Given the description of an element on the screen output the (x, y) to click on. 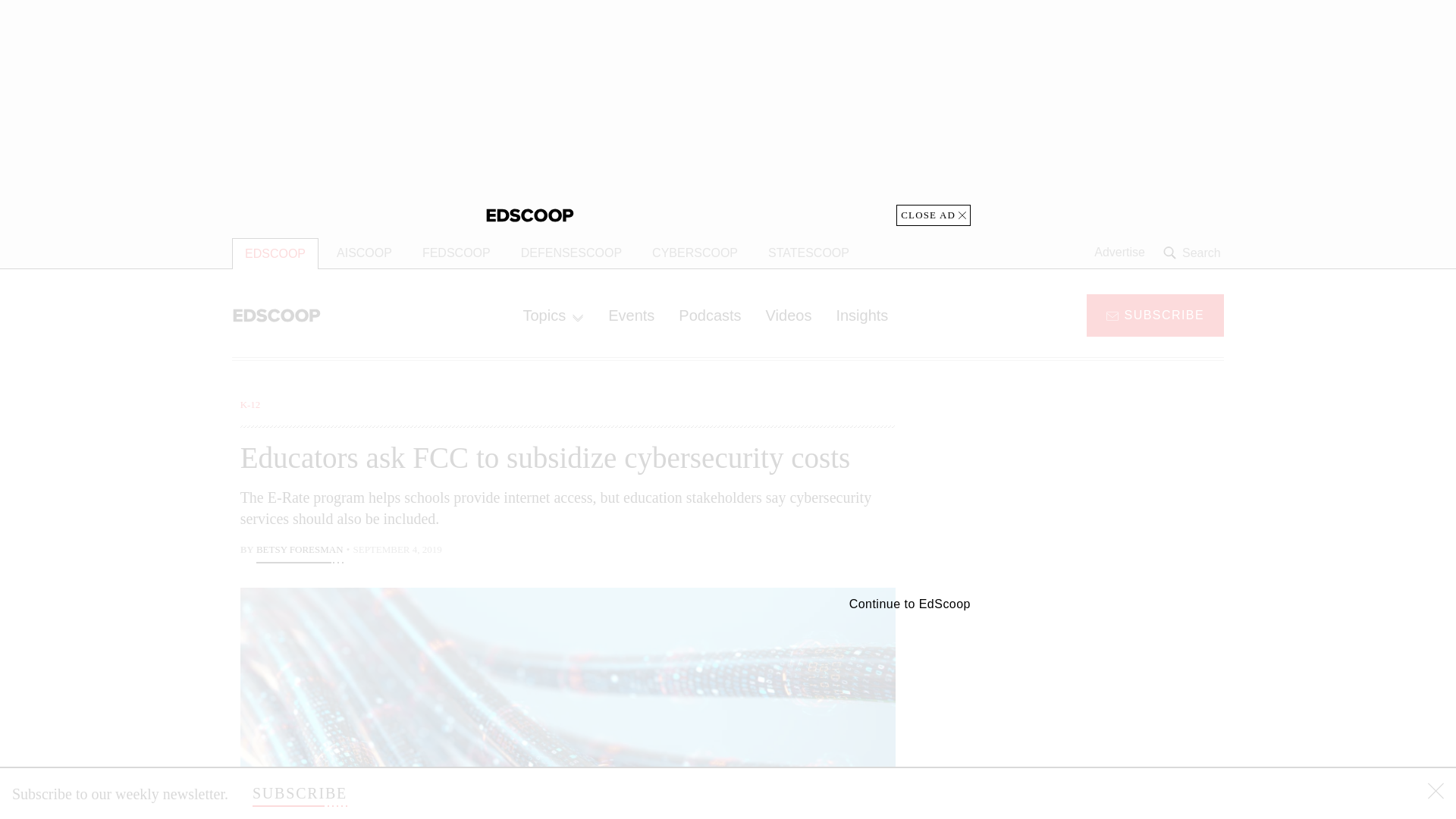
SUBSCRIBE (299, 793)
Topics (553, 315)
3rd party ad content (1101, 492)
3rd party ad content (727, 112)
STATESCOOP (808, 253)
Podcasts (709, 315)
BETSY FORESMAN (299, 550)
SUBSCRIBE (1155, 314)
Insights (861, 315)
